Given the description of an element on the screen output the (x, y) to click on. 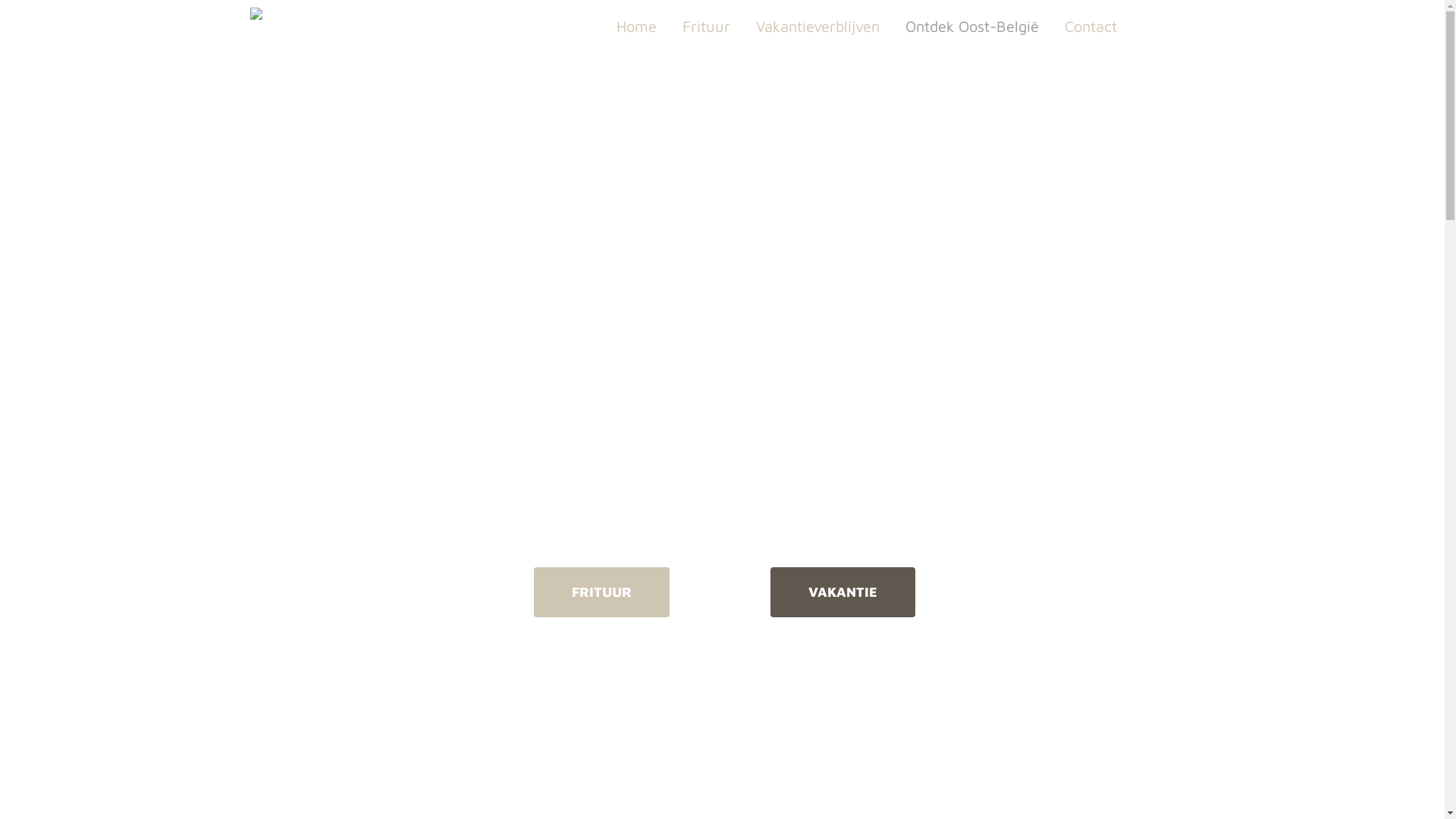
Home Element type: text (636, 26)
FRITUUR Element type: text (601, 592)
VAKANTIE Element type: text (842, 592)
Vakantieverblijven Element type: text (817, 26)
Contact Element type: text (1090, 26)
Frituur Element type: text (706, 26)
